Given the description of an element on the screen output the (x, y) to click on. 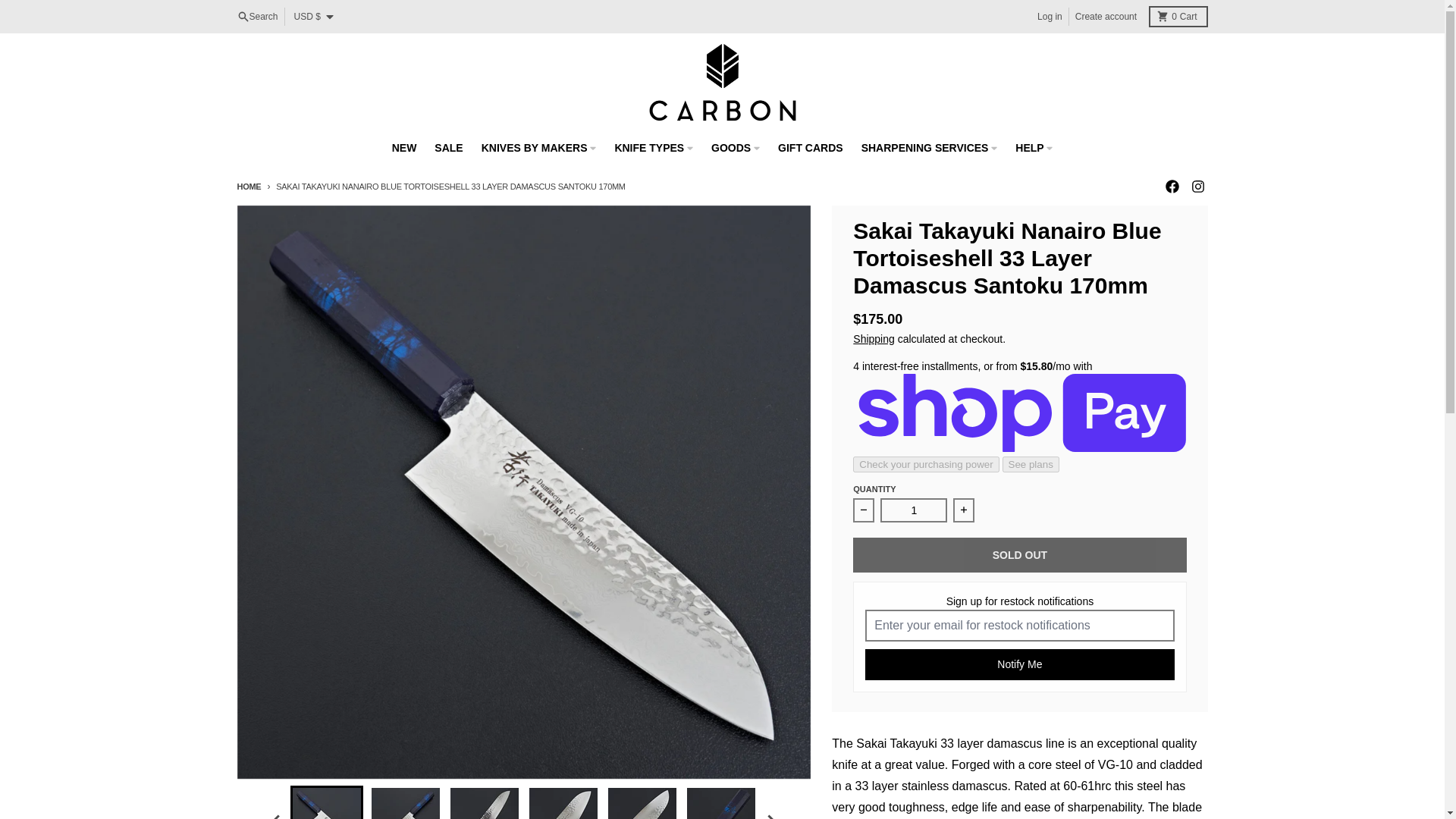
Facebook - Carbon Knife Co (1170, 185)
Back to the homepage (1177, 16)
Log in (247, 185)
Instagram - Carbon Knife Co (1049, 16)
Search (1197, 185)
Create account (256, 16)
1 (1105, 16)
